Given the description of an element on the screen output the (x, y) to click on. 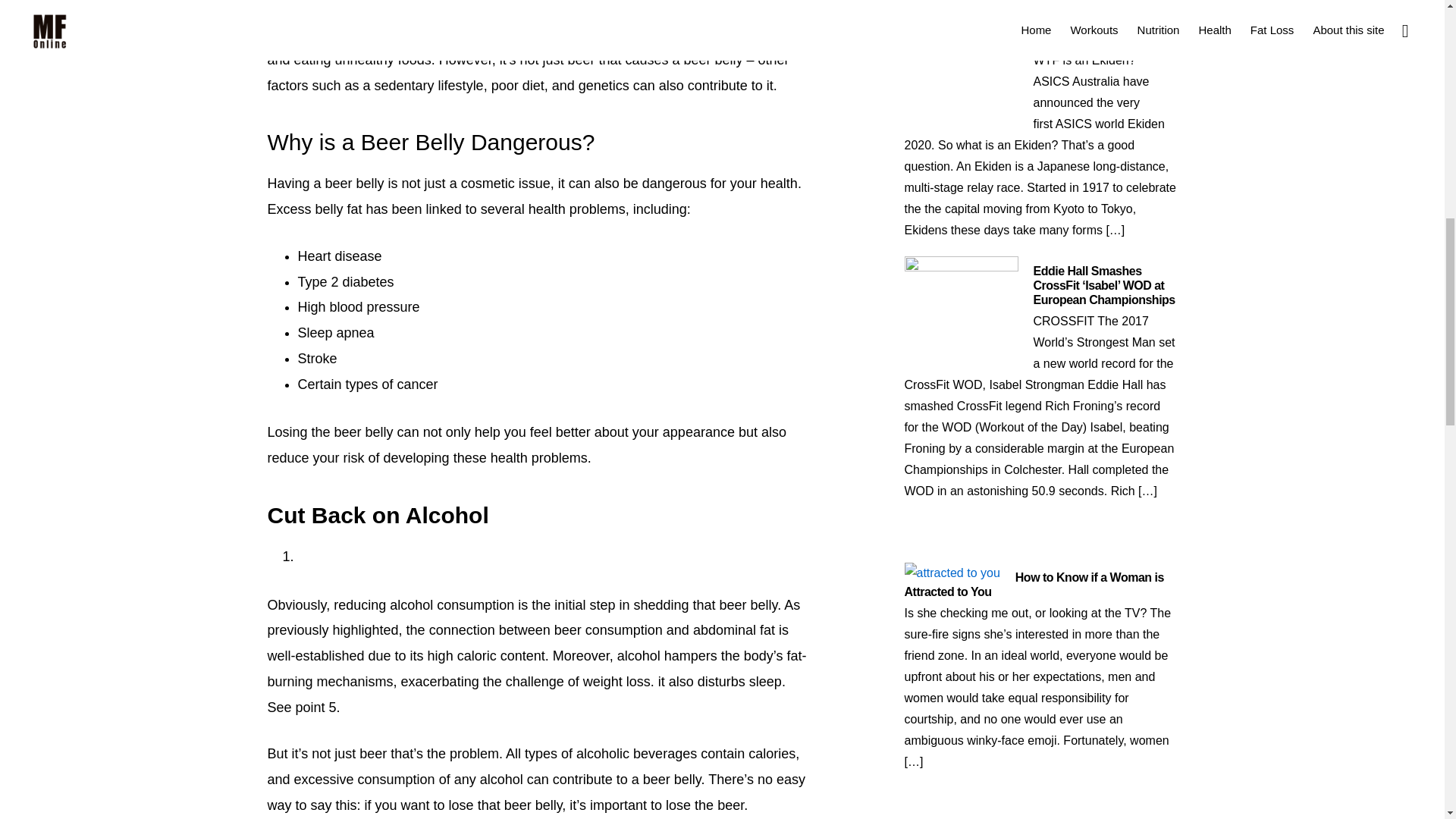
How to Know if a Woman is Attracted to You (1033, 584)
Want to Run a Ekiden? (1094, 16)
